Given the description of an element on the screen output the (x, y) to click on. 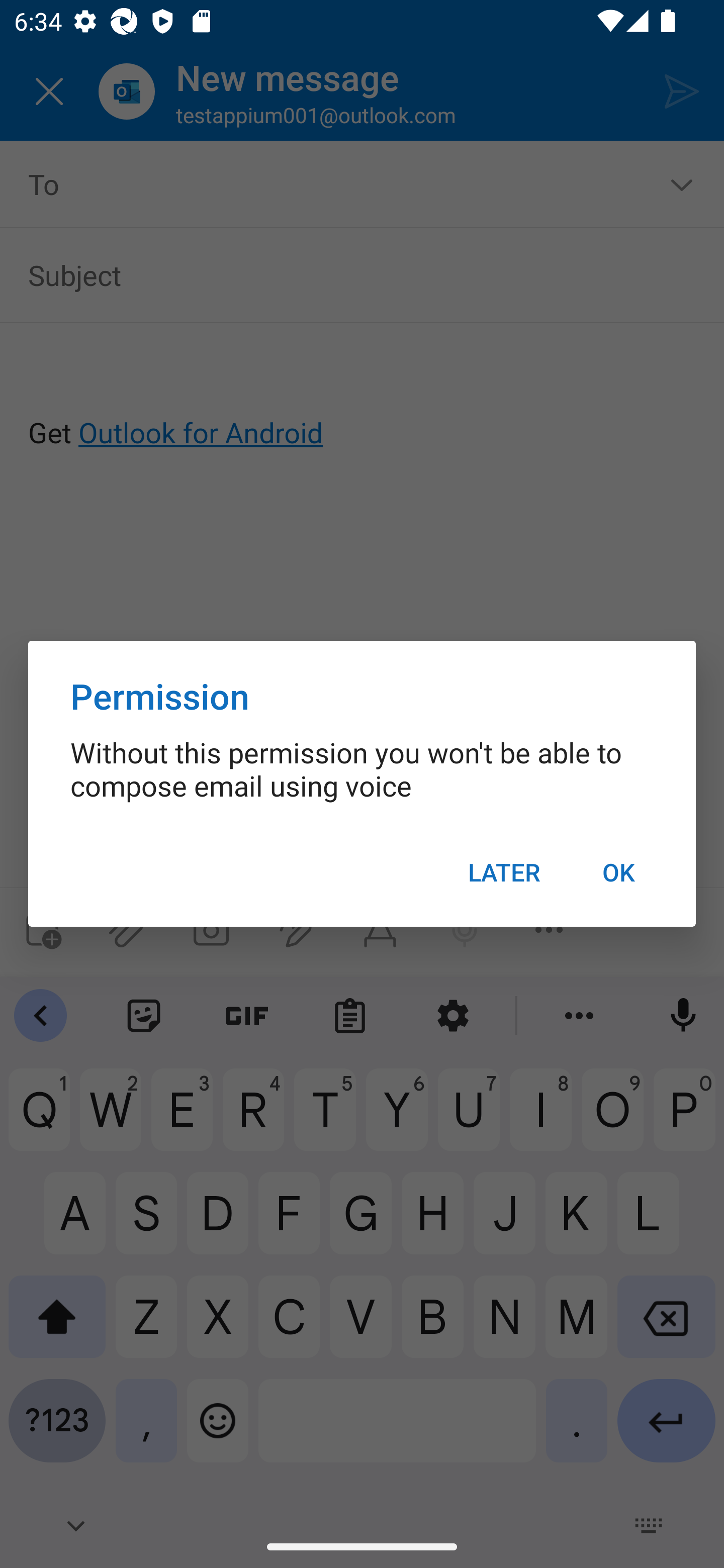
LATER (503, 872)
OK (617, 872)
